Given the description of an element on the screen output the (x, y) to click on. 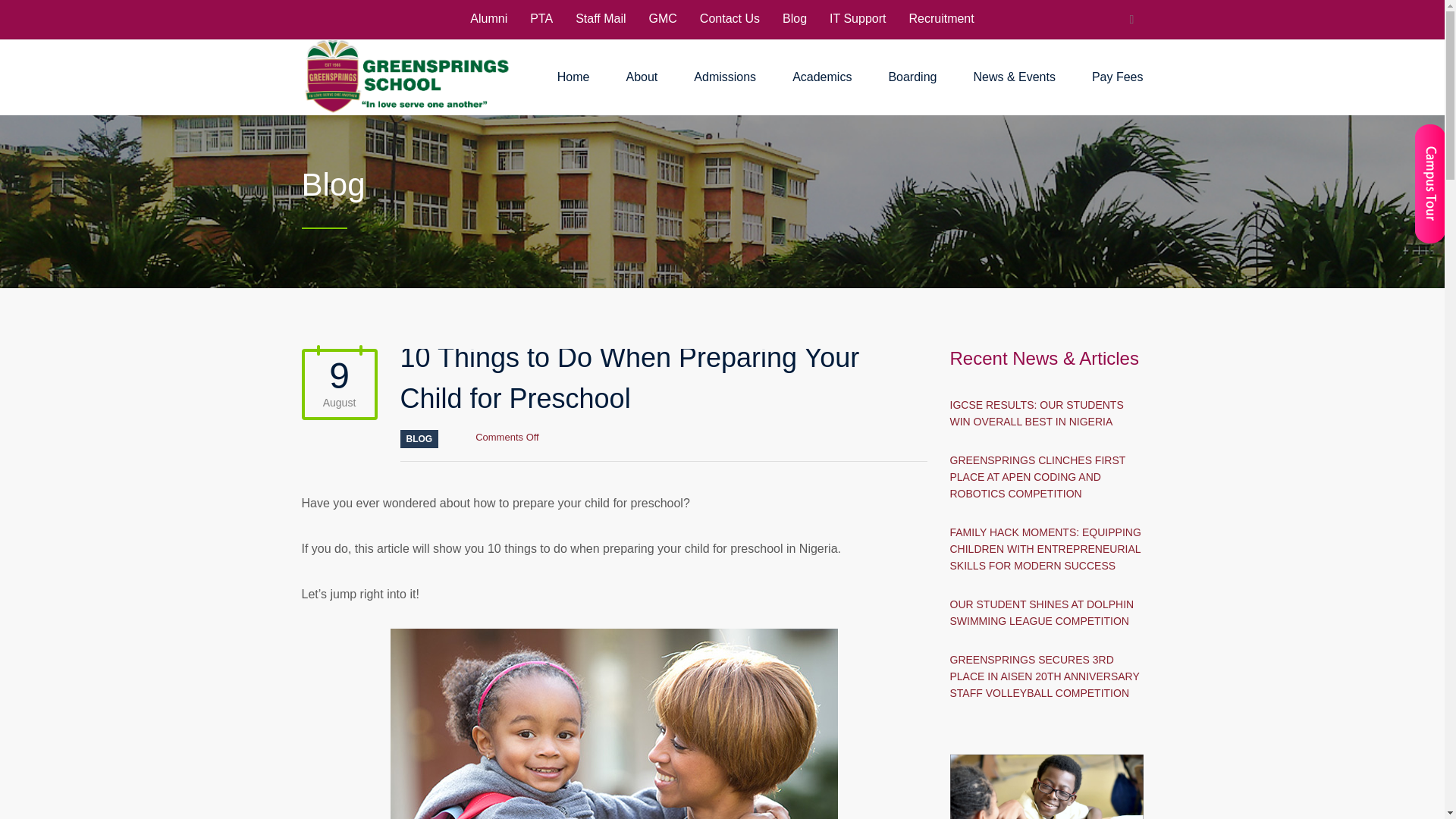
Recruitment (941, 18)
Contact Us (730, 18)
Alumni (488, 18)
Blog (794, 18)
IT Support (857, 18)
Staff Mail (600, 18)
PTA (541, 18)
Greensprings School (406, 77)
GMC (663, 18)
